Given the description of an element on the screen output the (x, y) to click on. 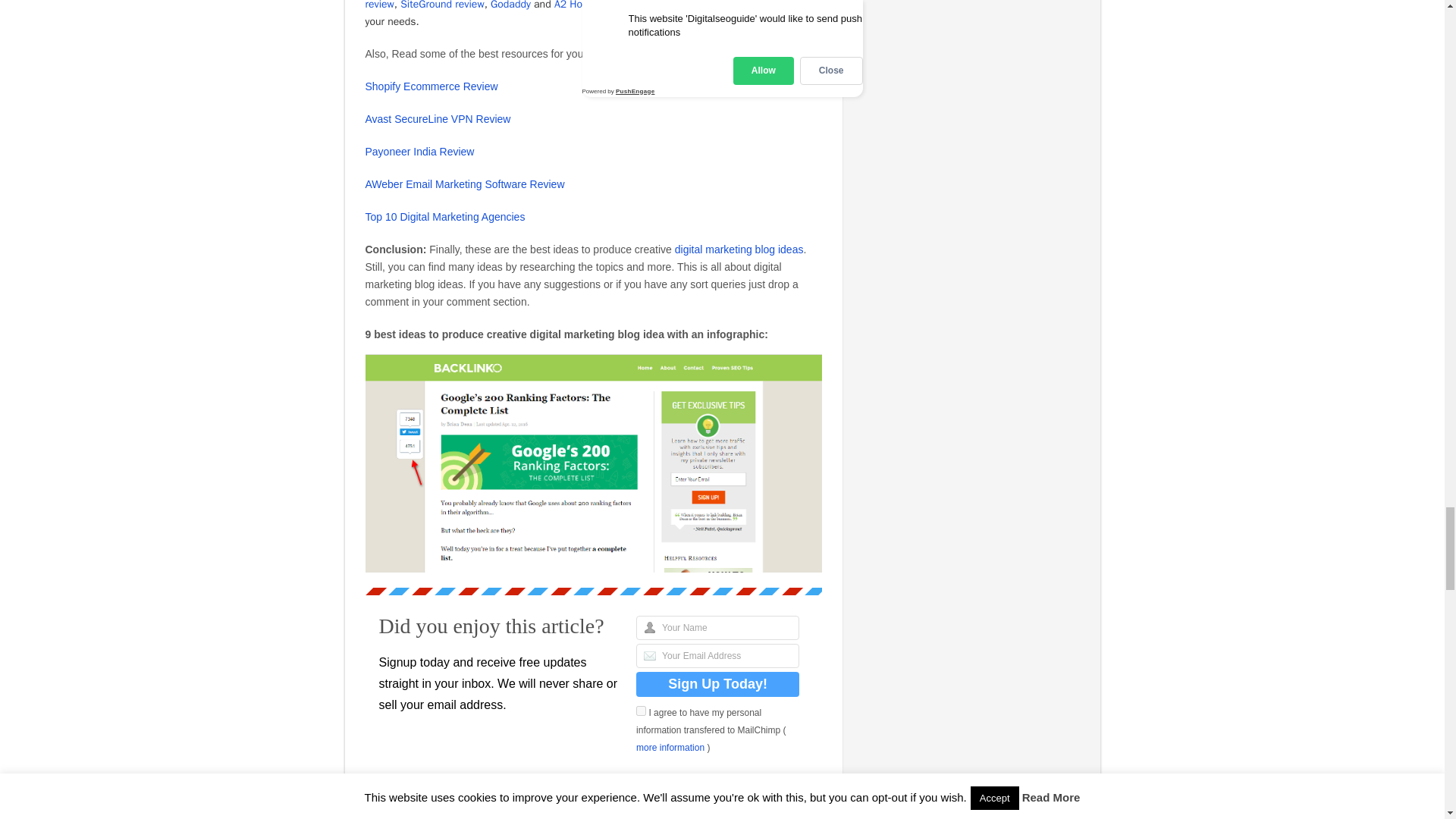
Bluehost review (550, 5)
on (641, 710)
Sign Up Today! (717, 683)
